Given the description of an element on the screen output the (x, y) to click on. 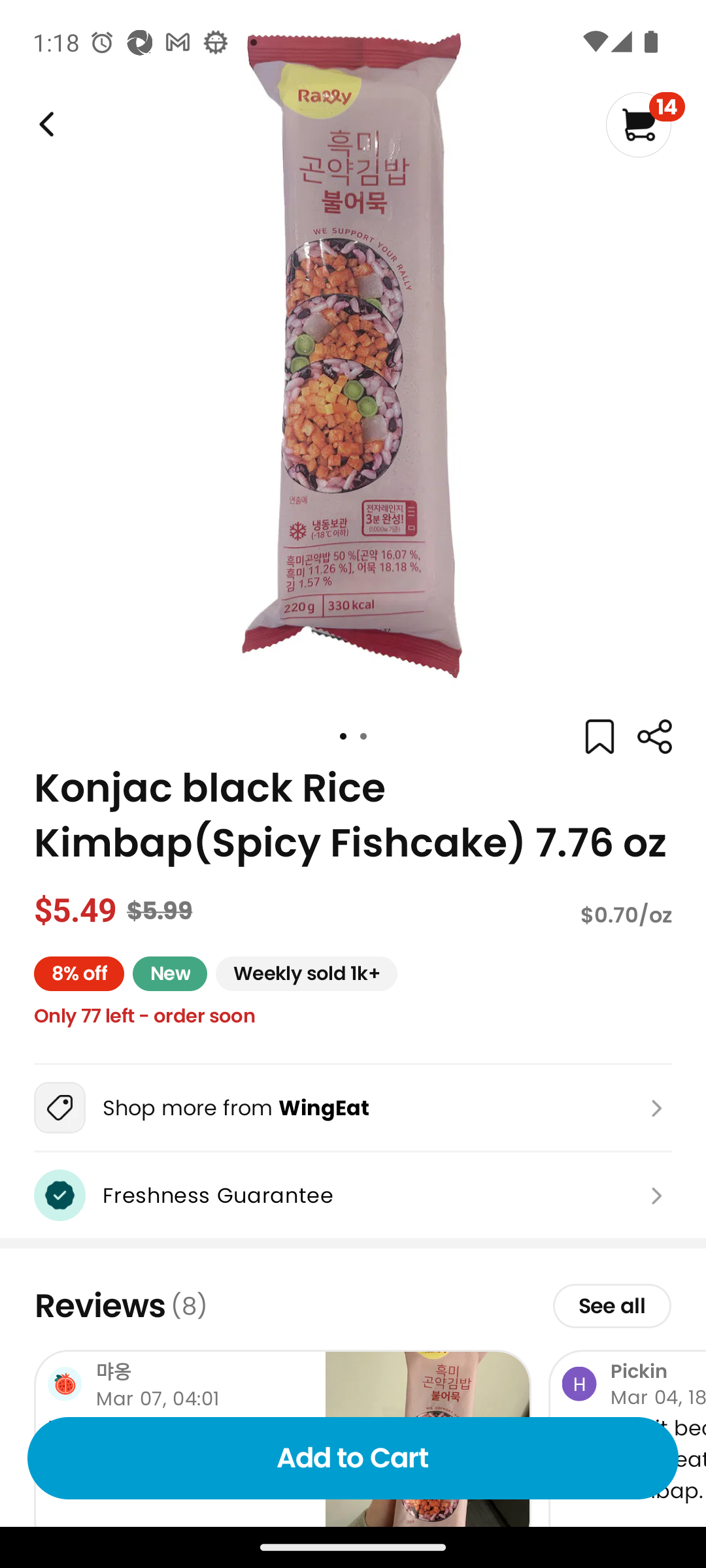
14 (644, 124)
Weee! (45, 124)
Weee! (653, 736)
Shop more from WingEat Weee! (352, 1107)
Freshness Guarantee (352, 1195)
Reviews (8) See all (353, 1305)
Add to Cart (352, 1458)
